Given the description of an element on the screen output the (x, y) to click on. 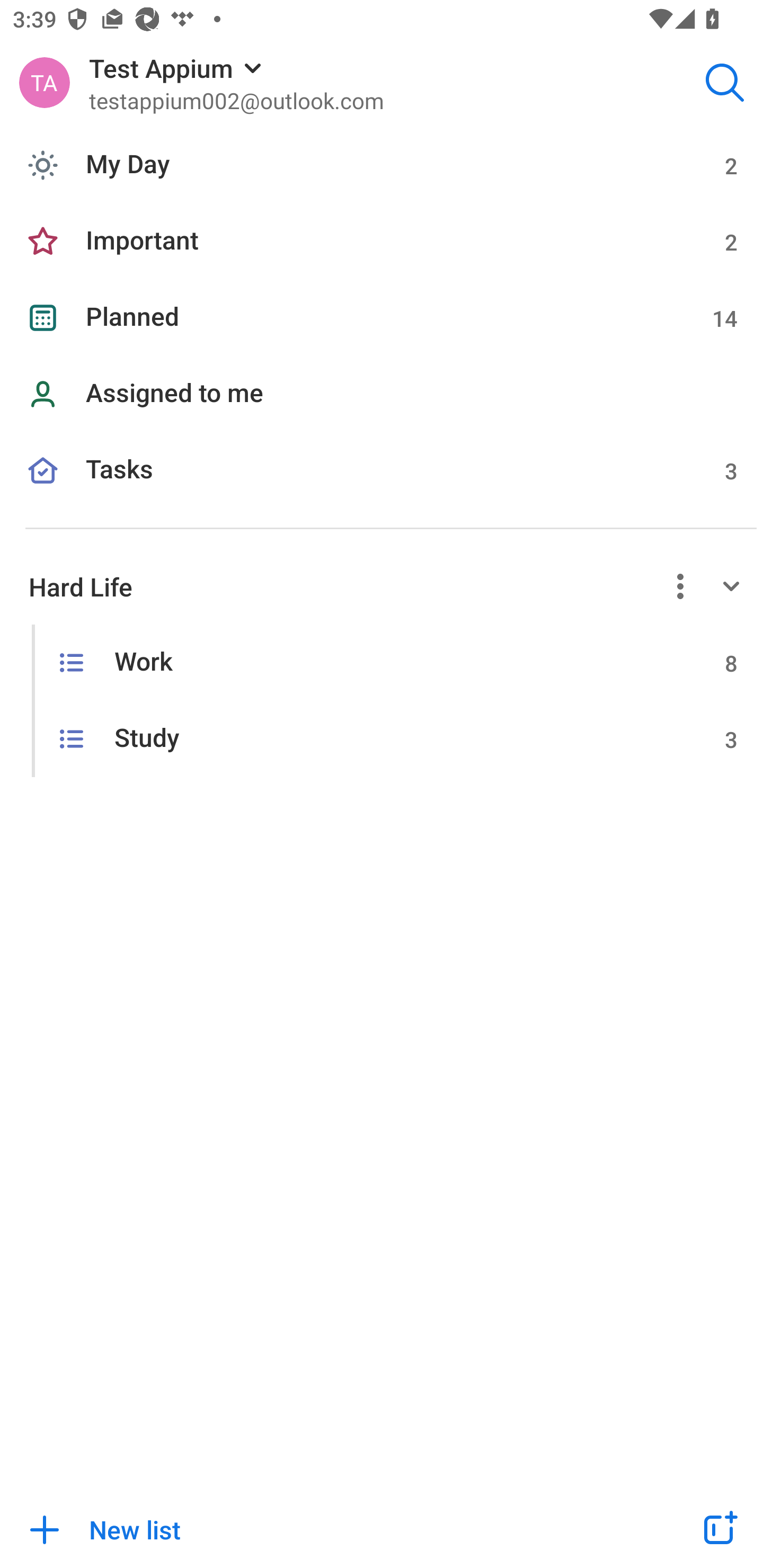
Enter search (724, 81)
